Given the description of an element on the screen output the (x, y) to click on. 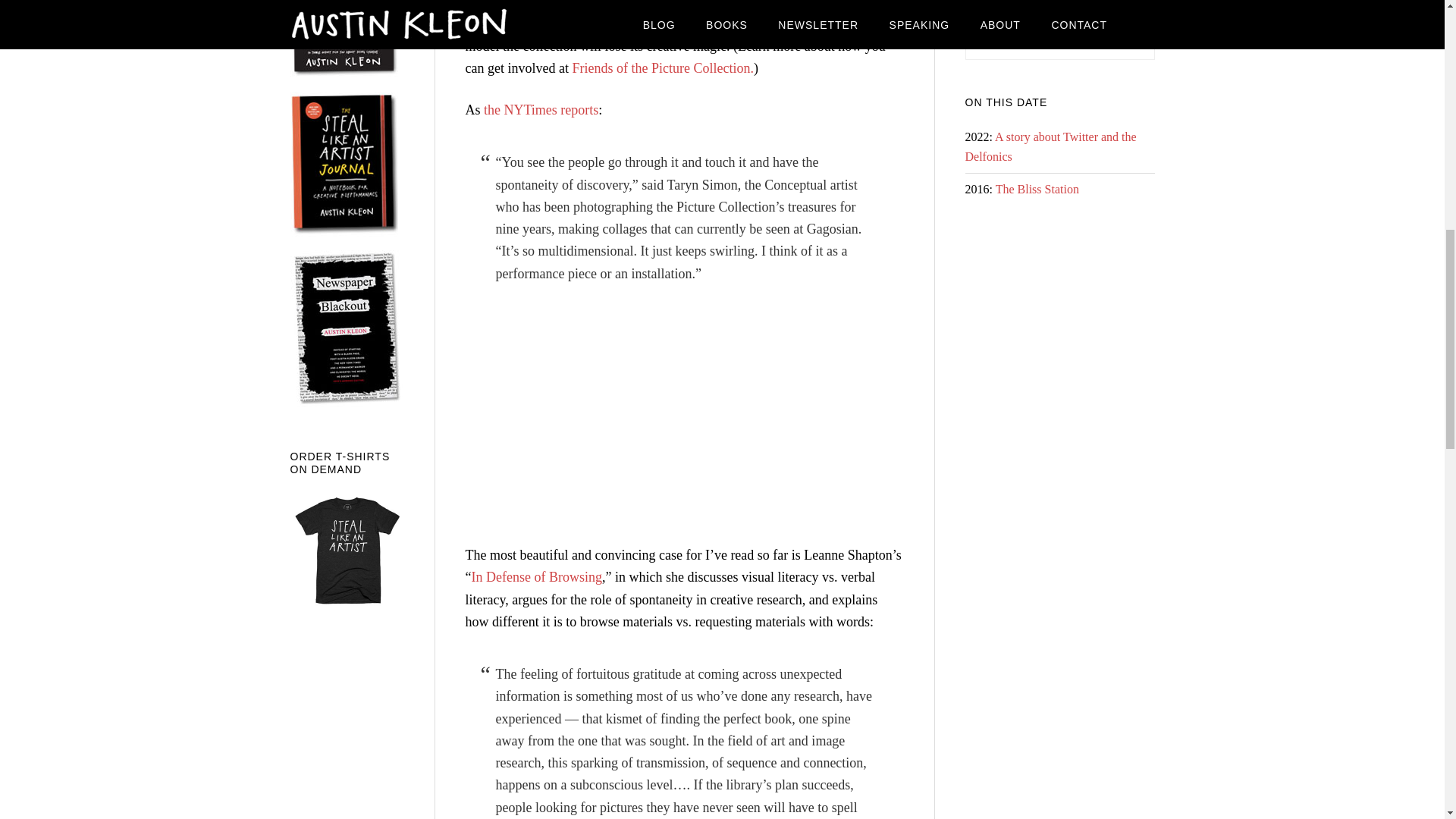
Friends of the Picture Collection. (662, 68)
The Bliss Station (1036, 188)
ON THIS DATE (1004, 102)
The NYPL Picture Collection Behind the Scenes (654, 410)
In Defense of Browsing (536, 576)
the NYTimes reports (540, 109)
A story about Twitter and the Delfonics (1049, 146)
